Given the description of an element on the screen output the (x, y) to click on. 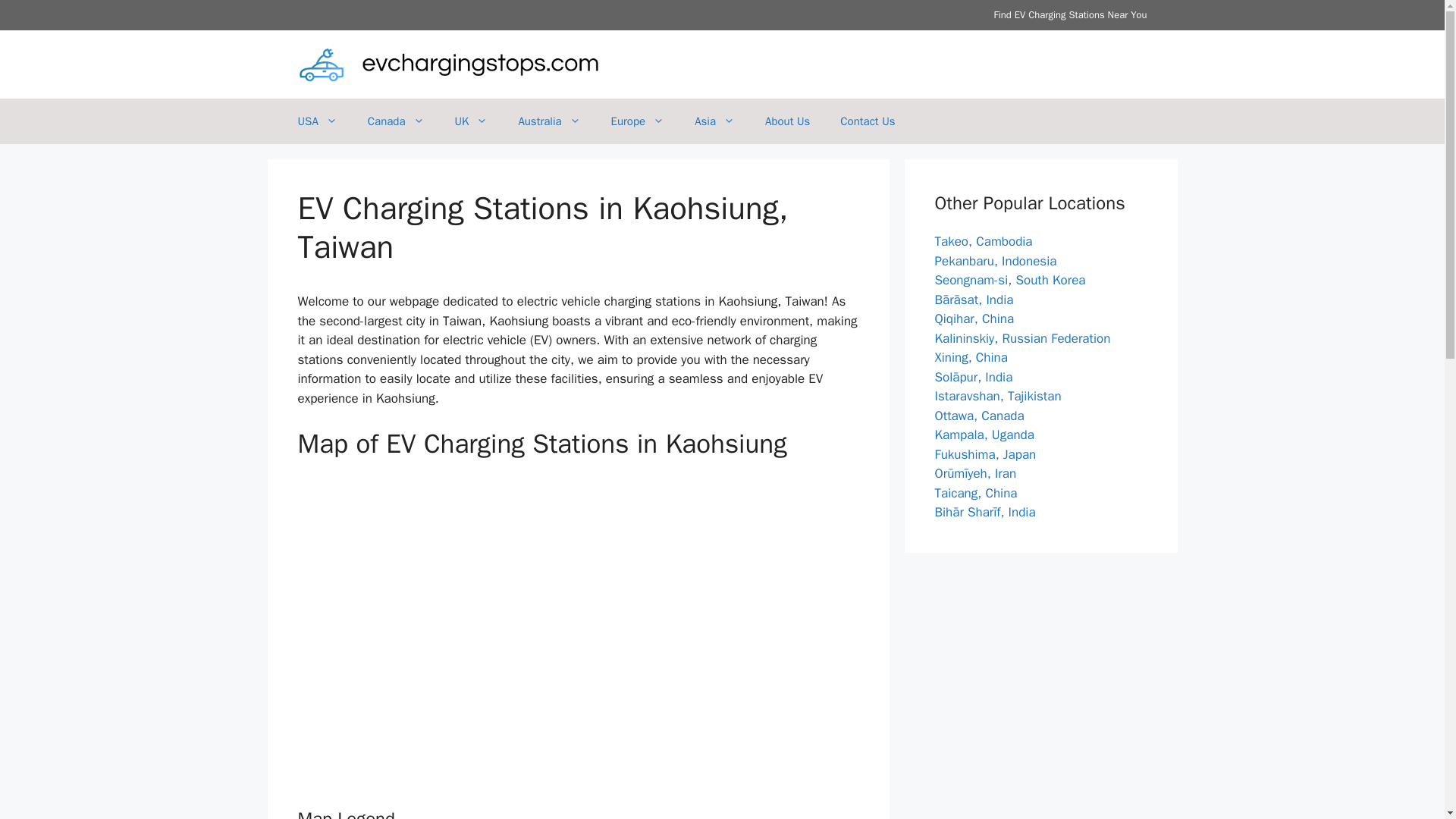
USA (317, 121)
UK (471, 121)
Canada (395, 121)
Australia (548, 121)
